Given the description of an element on the screen output the (x, y) to click on. 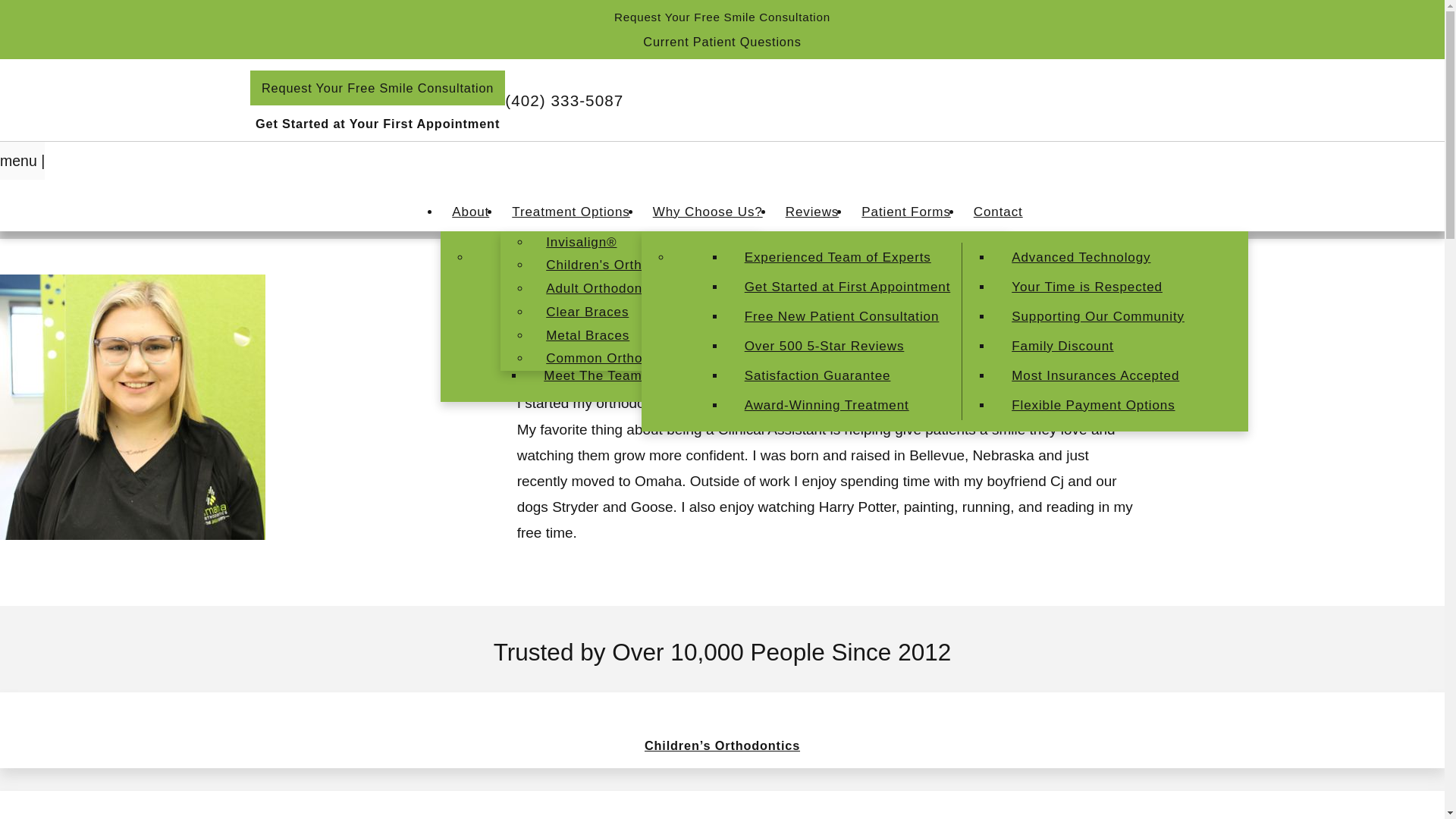
About (470, 211)
Your Time is Respected (1093, 286)
Careers (819, 375)
Reviews (812, 211)
Why Choose Us? (708, 211)
Top 10 Reasons (819, 286)
Dr. Alaina Allen (605, 316)
Current Patient Questions (721, 41)
Advanced Technology (1093, 256)
Over 500 5-Star Reviews (843, 346)
